Given the description of an element on the screen output the (x, y) to click on. 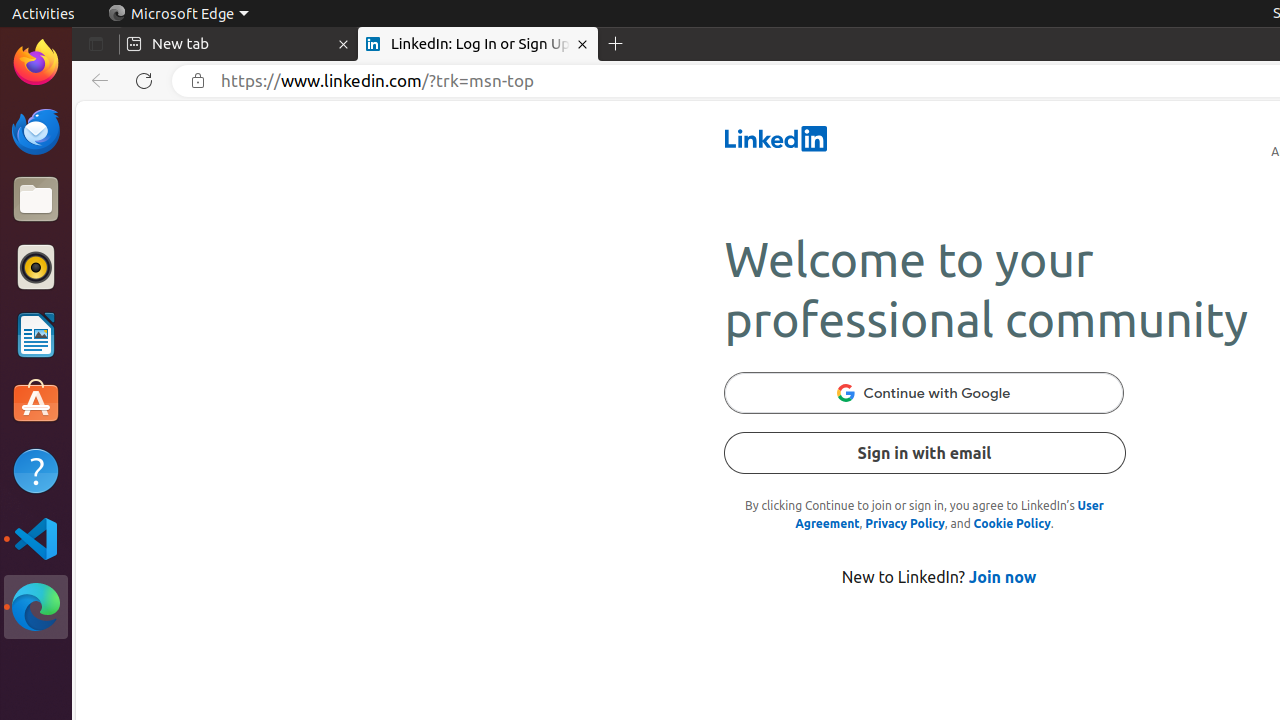
Refresh Element type: push-button (144, 81)
Thunderbird Mail Element type: push-button (36, 131)
Firefox Web Browser Element type: push-button (36, 63)
Help Element type: push-button (36, 470)
Back Element type: push-button (96, 81)
